Given the description of an element on the screen output the (x, y) to click on. 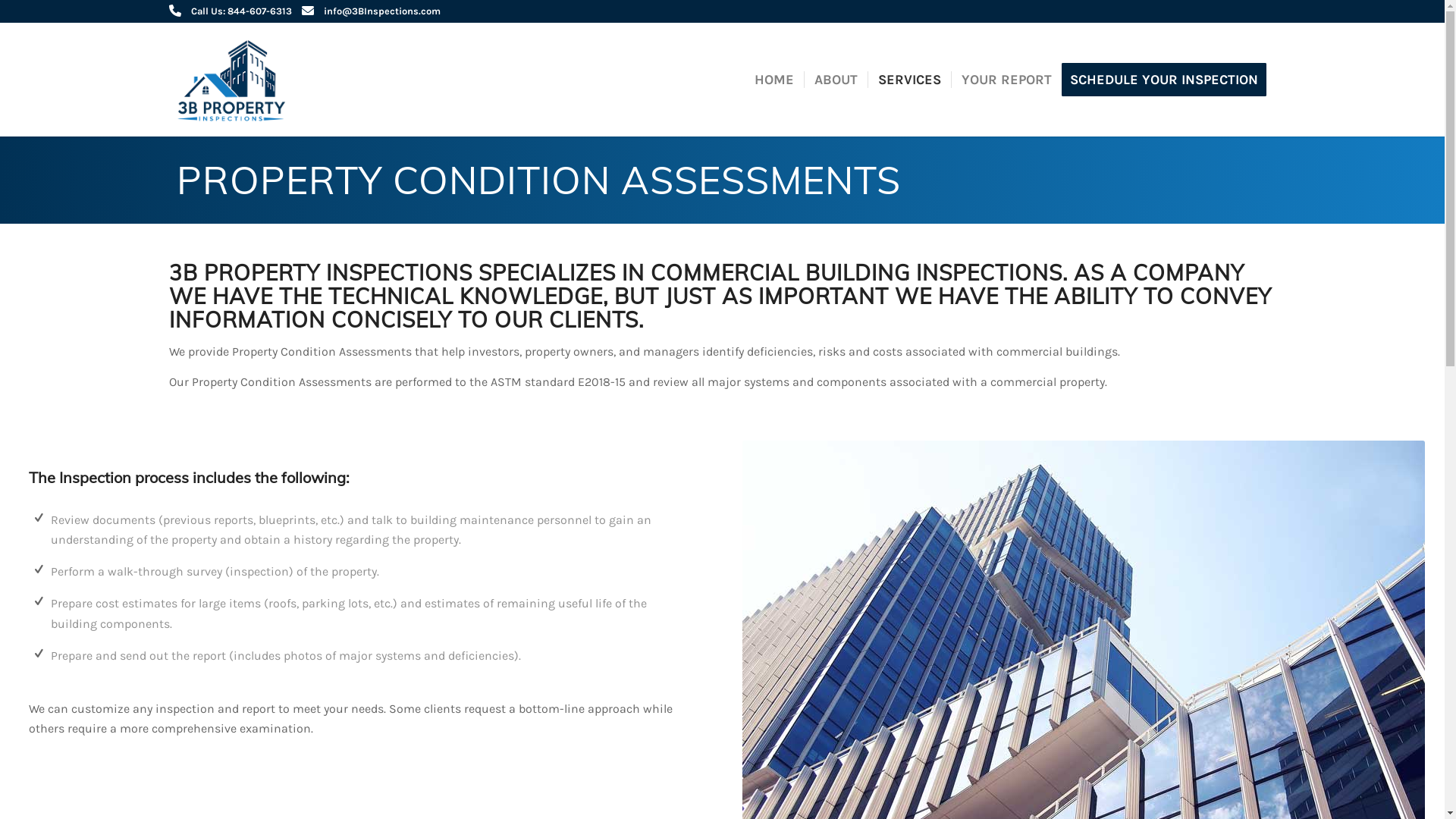
YOUR REPORT Element type: text (1005, 79)
Call Us: 844-607-6313 Element type: text (241, 10)
ABOUT Element type: text (835, 79)
HOME Element type: text (773, 79)
SCHEDULE YOUR INSPECTION Element type: text (1168, 79)
info@3BInspections.com Element type: text (381, 10)
SERVICES Element type: text (908, 79)
3bpng Element type: hover (234, 79)
